Given the description of an element on the screen output the (x, y) to click on. 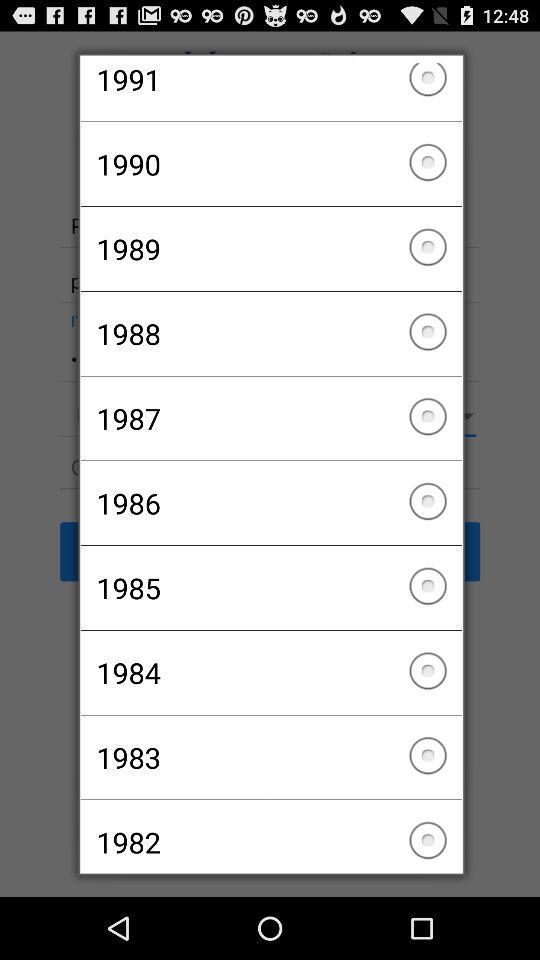
select the 1986 (270, 503)
